Given the description of an element on the screen output the (x, y) to click on. 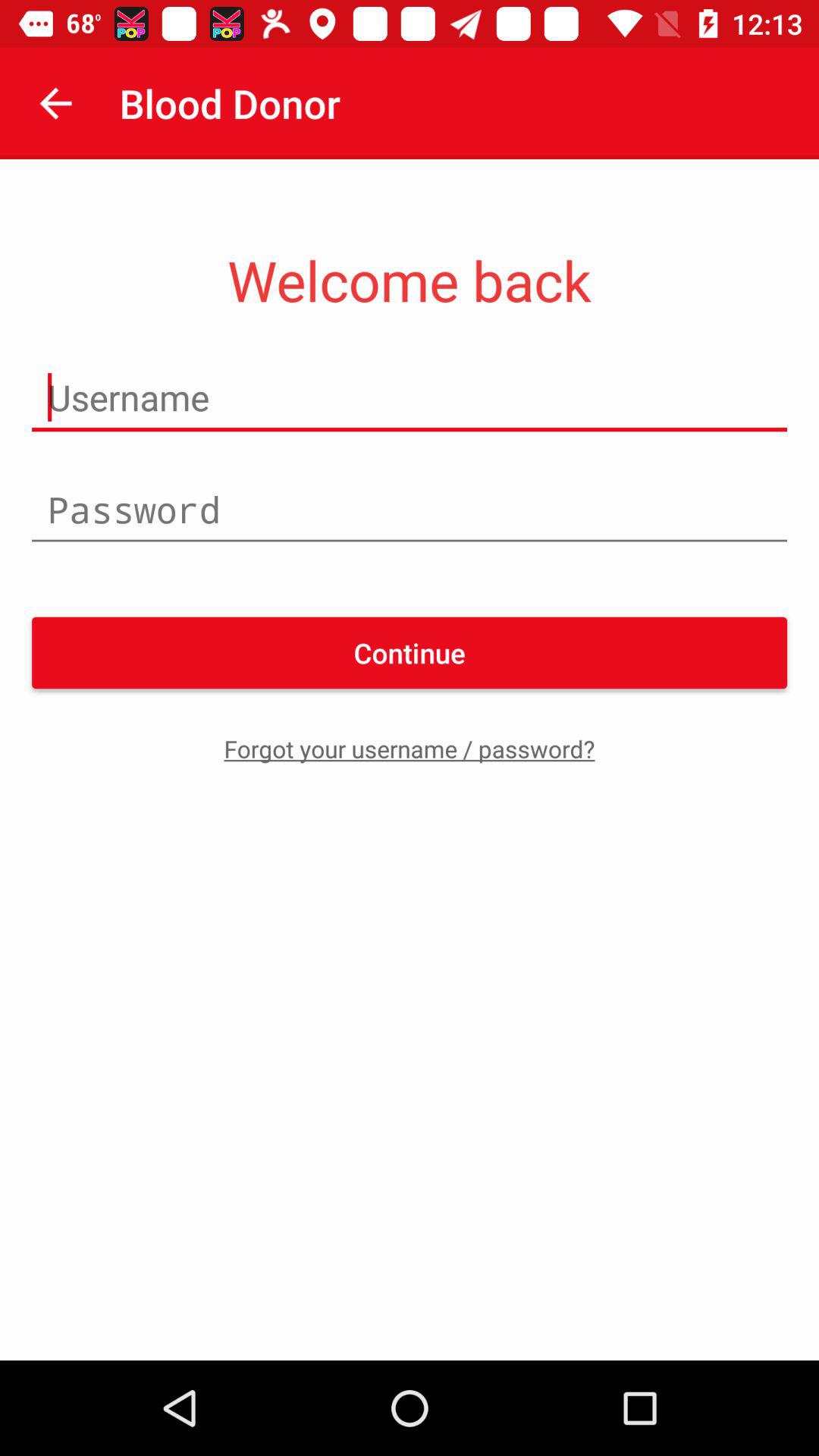
launch app to the left of the blood donor (55, 103)
